Given the description of an element on the screen output the (x, y) to click on. 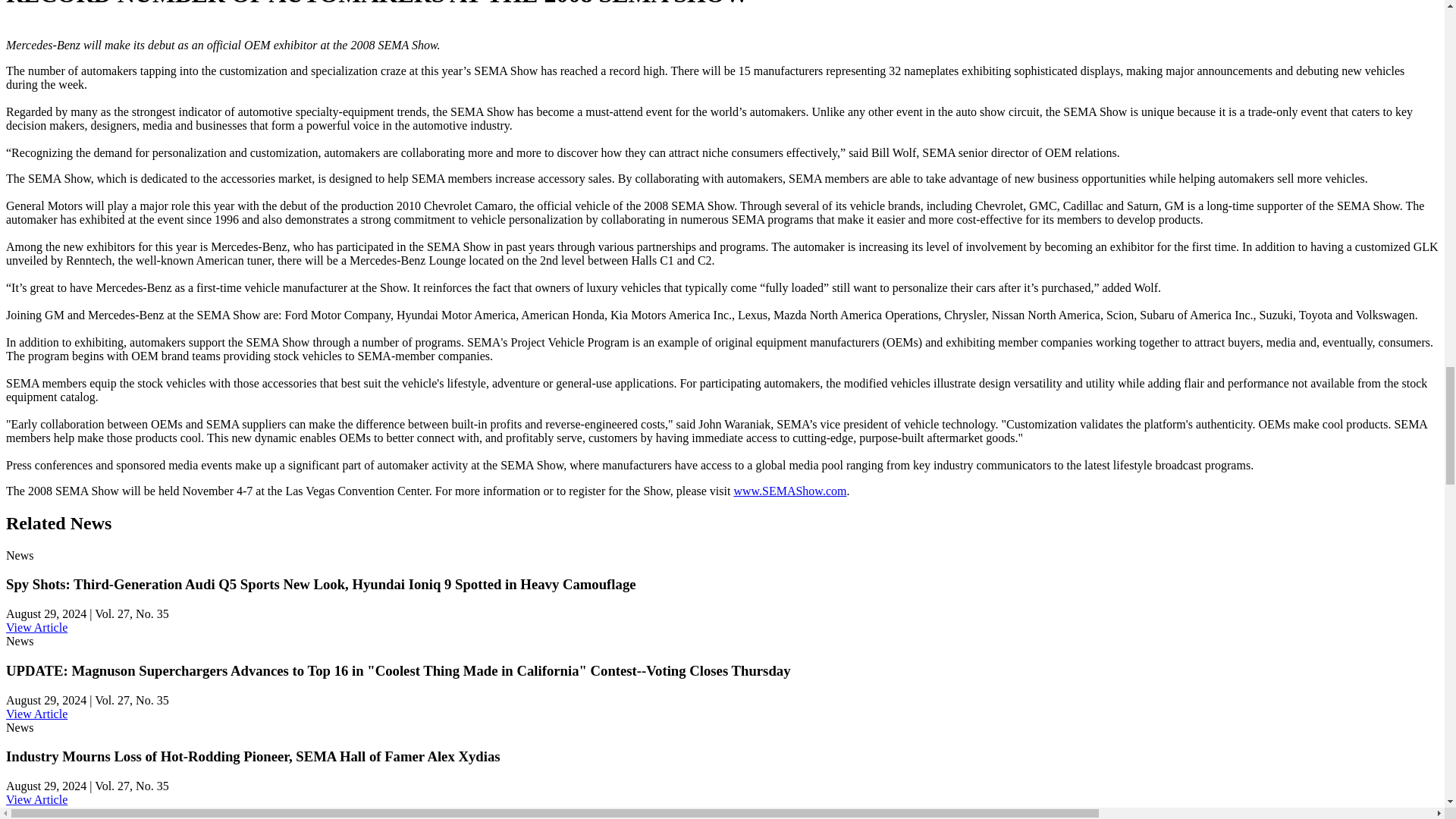
View Article (35, 799)
View Article (35, 713)
www.SEMAShow.com (789, 490)
View Article (35, 626)
